Given the description of an element on the screen output the (x, y) to click on. 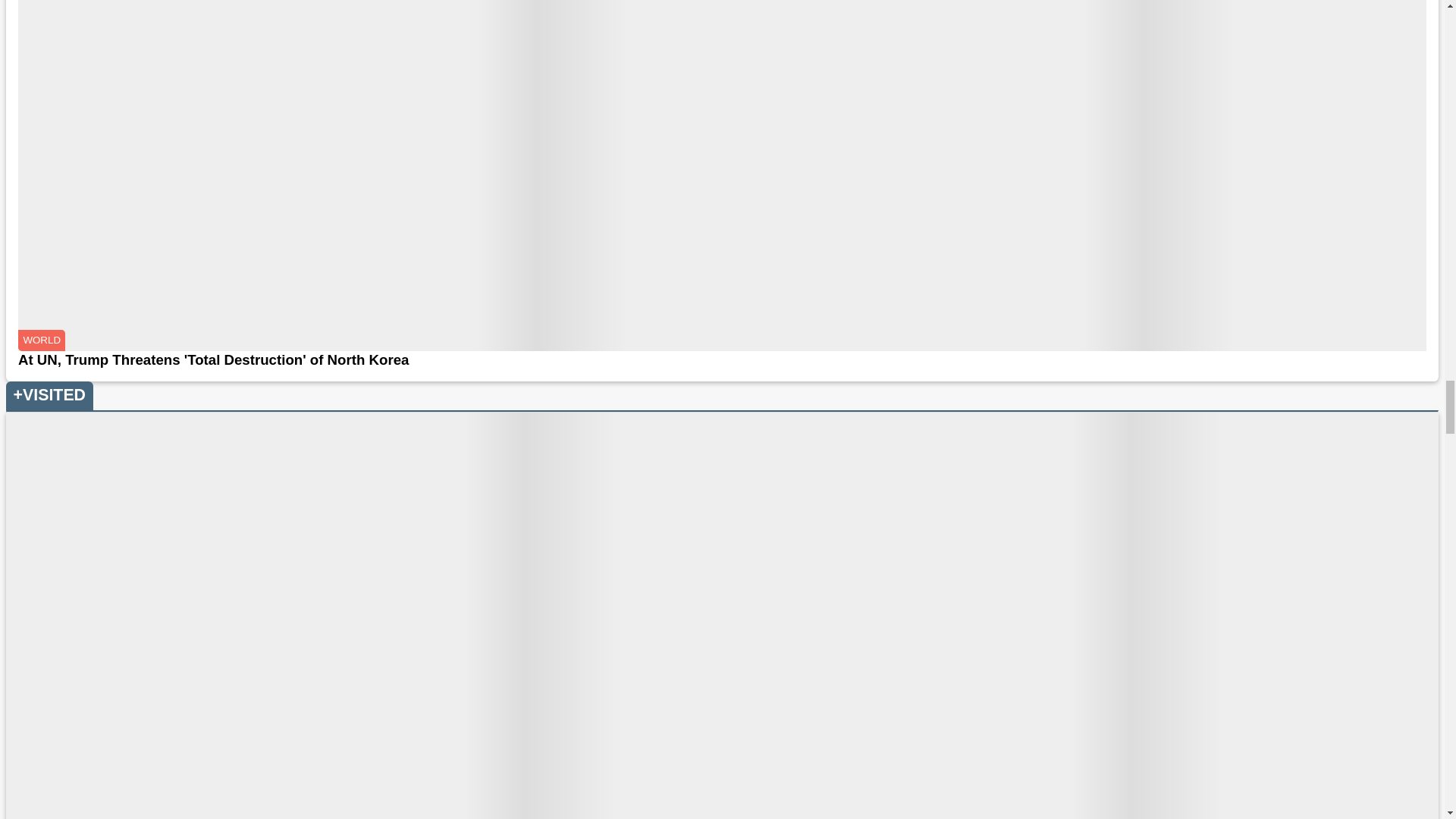
WORLD (41, 340)
At UN, Trump Threatens 'Total Destruction' of North Korea (721, 360)
